Given the description of an element on the screen output the (x, y) to click on. 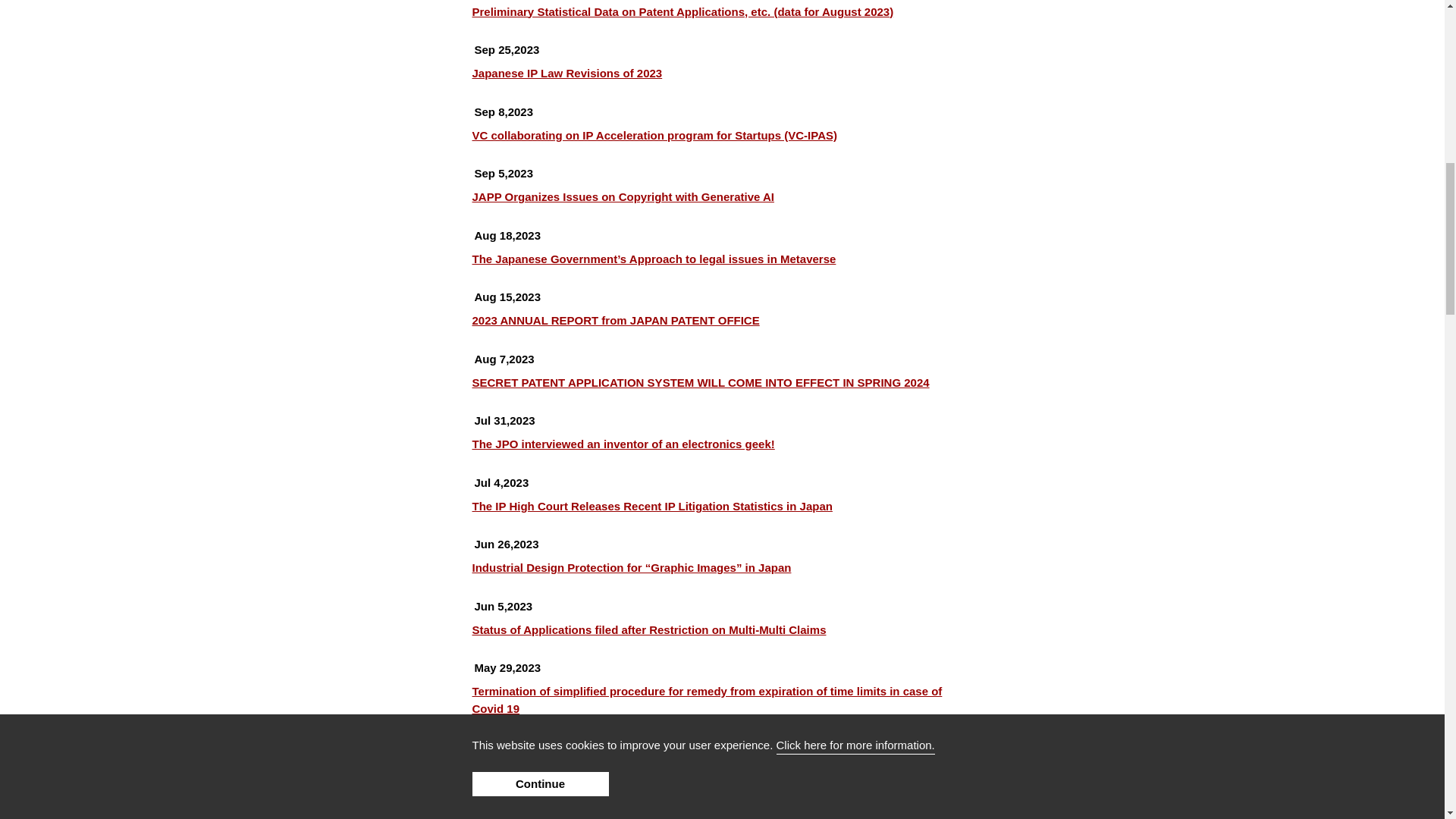
JAPP Organizes Issues on Copyright with Generative AI (622, 197)
The JPO interviewed an inventor of an electronics geek! (622, 444)
2023 ANNUAL REPORT from JAPAN PATENT OFFICE (614, 321)
Japanese IP Law Revisions of 2023 (566, 73)
